Given the description of an element on the screen output the (x, y) to click on. 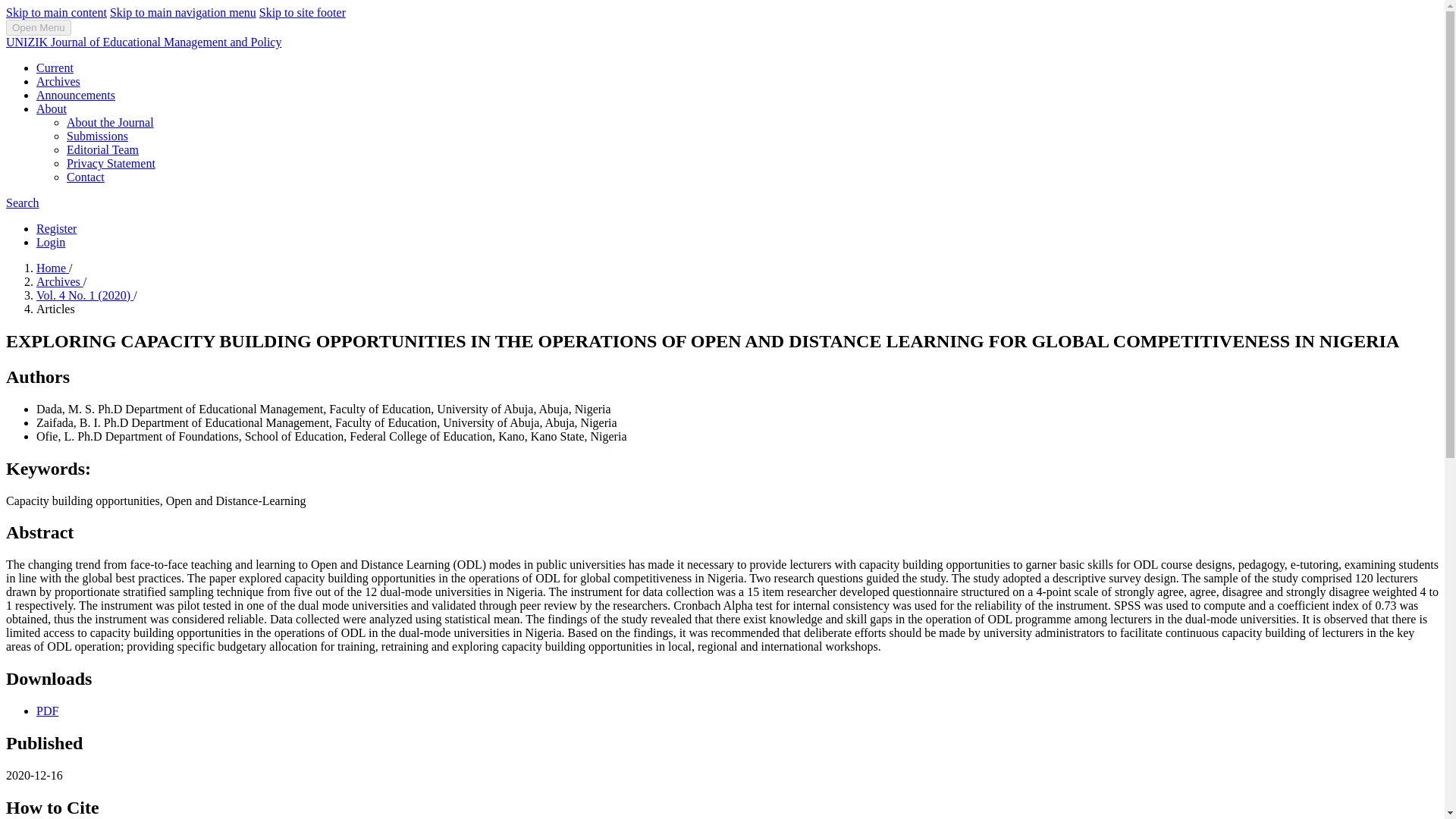
UNIZIK Journal of Educational Management and Policy (143, 42)
Login (50, 241)
About (51, 108)
Search (22, 202)
Contact (85, 176)
Announcements (75, 94)
Skip to main content (55, 11)
Privacy Statement (110, 163)
Editorial Team (102, 149)
Open Menu (38, 27)
